Given the description of an element on the screen output the (x, y) to click on. 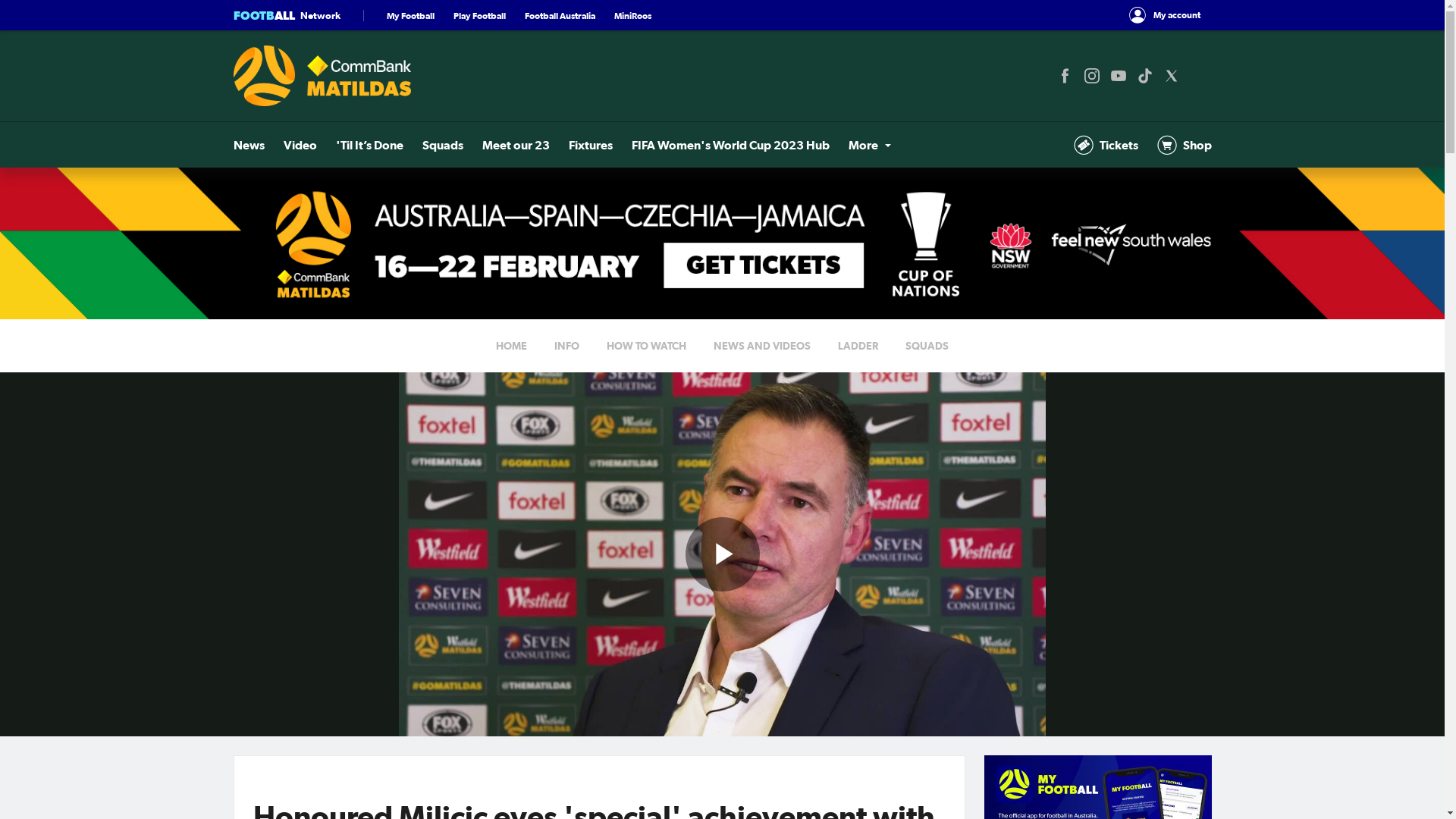
NEWS AND VIDEOS Element type: text (761, 345)
News Element type: text (248, 144)
INFO Element type: text (566, 345)
Tickets Element type: text (1105, 144)
Fixtures Element type: text (590, 144)
My Football Element type: text (410, 15)
LADDER Element type: text (857, 345)
Squads Element type: text (441, 144)
Play Football Element type: text (479, 15)
Play Video Element type: text (722, 554)
HOME Element type: text (511, 345)
My account Element type: text (1164, 15)
Meet our 23 Element type: text (515, 144)
Video Element type: text (299, 144)
MiniRoos Element type: text (632, 15)
Shop Element type: text (1184, 144)
HOW TO WATCH Element type: text (646, 345)
Football Australia Element type: text (559, 15)
FIFA Women's World Cup 2023 Hub Element type: text (729, 144)
SQUADS Element type: text (926, 345)
